Given the description of an element on the screen output the (x, y) to click on. 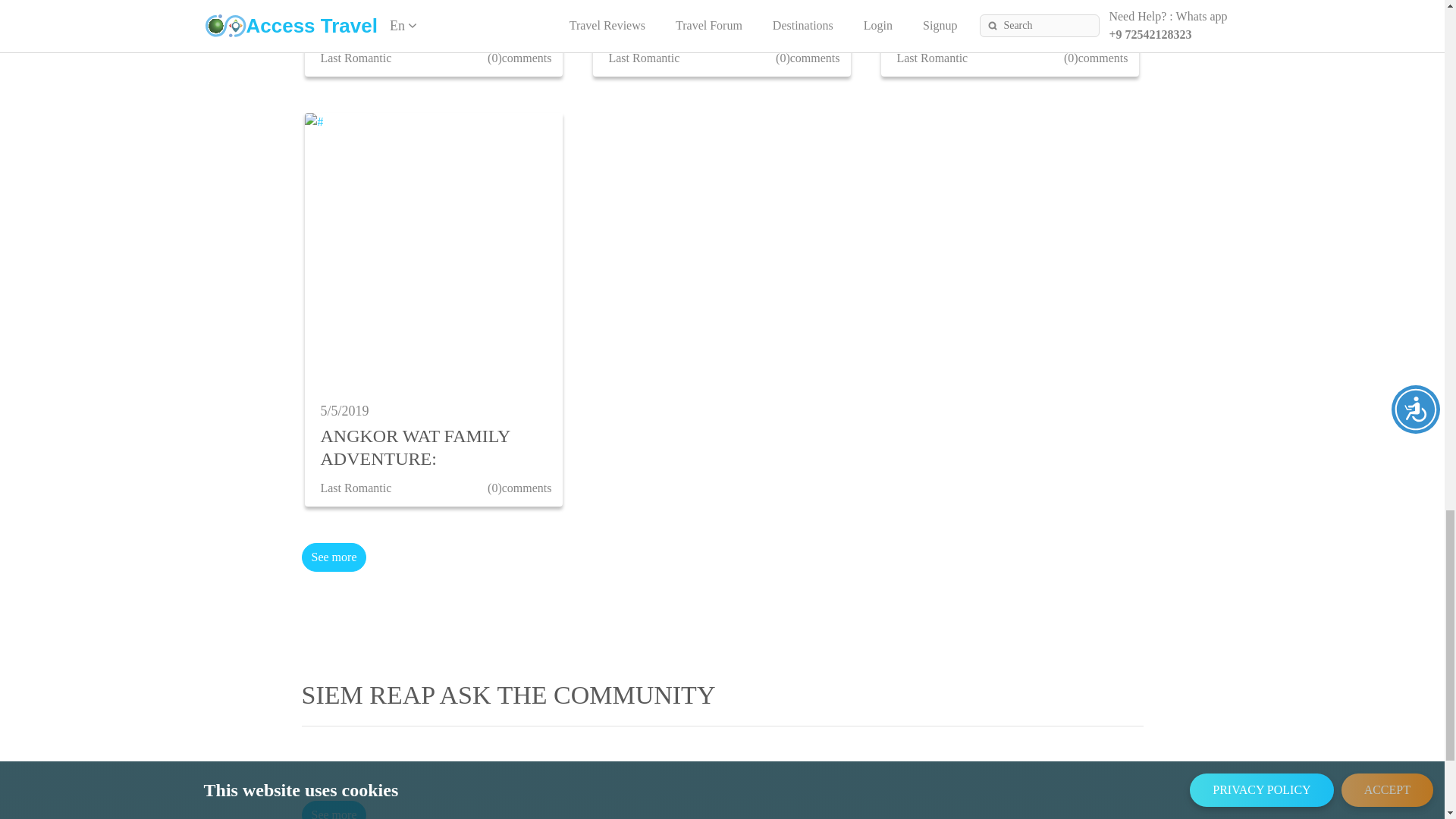
ANGKOR WAT CULTURAL HERITAGE EXPLORATION TOUR (429, 20)
See more (333, 556)
See more (333, 809)
ANGKOR WAT EXPLORER: ULTIMATE ADVENTURE TOUR (717, 20)
